Given the description of an element on the screen output the (x, y) to click on. 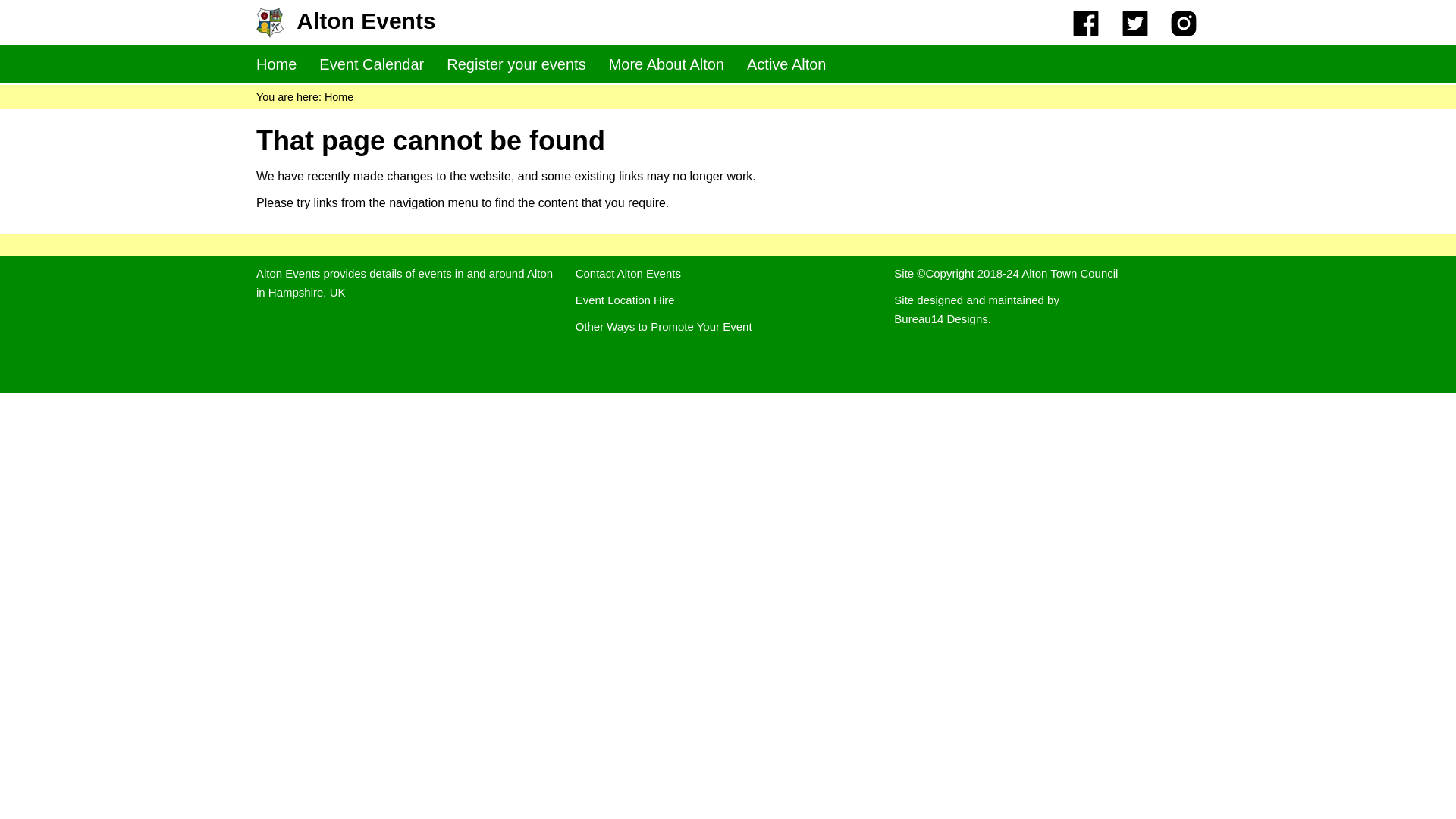
Register your events (515, 64)
Bureau14 Designs (940, 318)
Event Calendar (370, 64)
Home (338, 96)
Home (276, 64)
More About Alton (665, 64)
Contact Alton Events (628, 273)
Other Ways to Promote Your Event (663, 326)
Active Alton (786, 64)
Event Location Hire (625, 299)
